Given the description of an element on the screen output the (x, y) to click on. 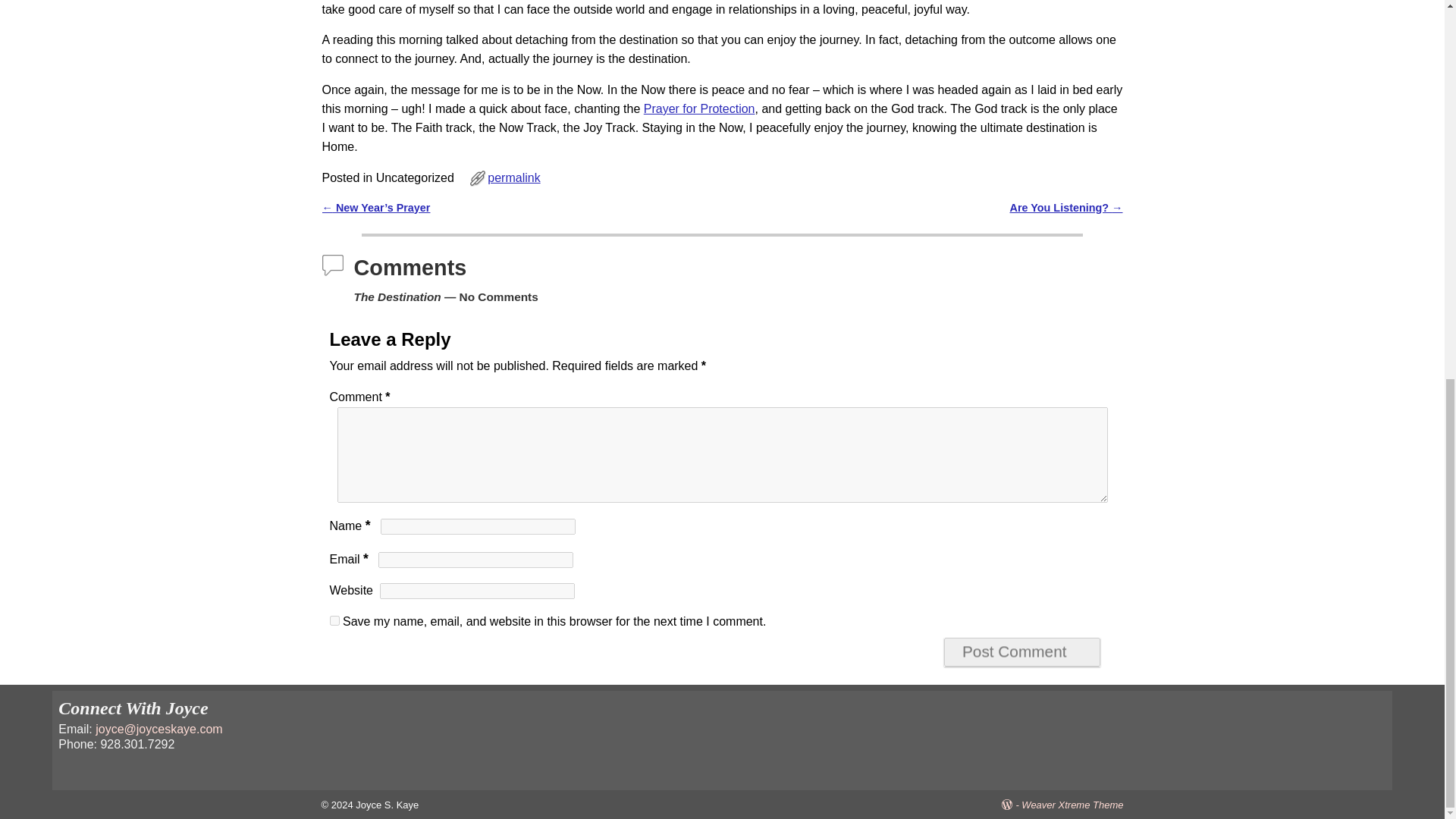
Post Comment (1021, 652)
Weaver Xtreme Theme (1072, 804)
Prayer for Protection (699, 108)
permalink (513, 177)
Post Comment (1021, 652)
- (1011, 804)
Permalink to The Destination (513, 177)
Weaver Xtreme Theme (1072, 804)
yes (334, 620)
Proudly powered by WordPress (1011, 804)
